Given the description of an element on the screen output the (x, y) to click on. 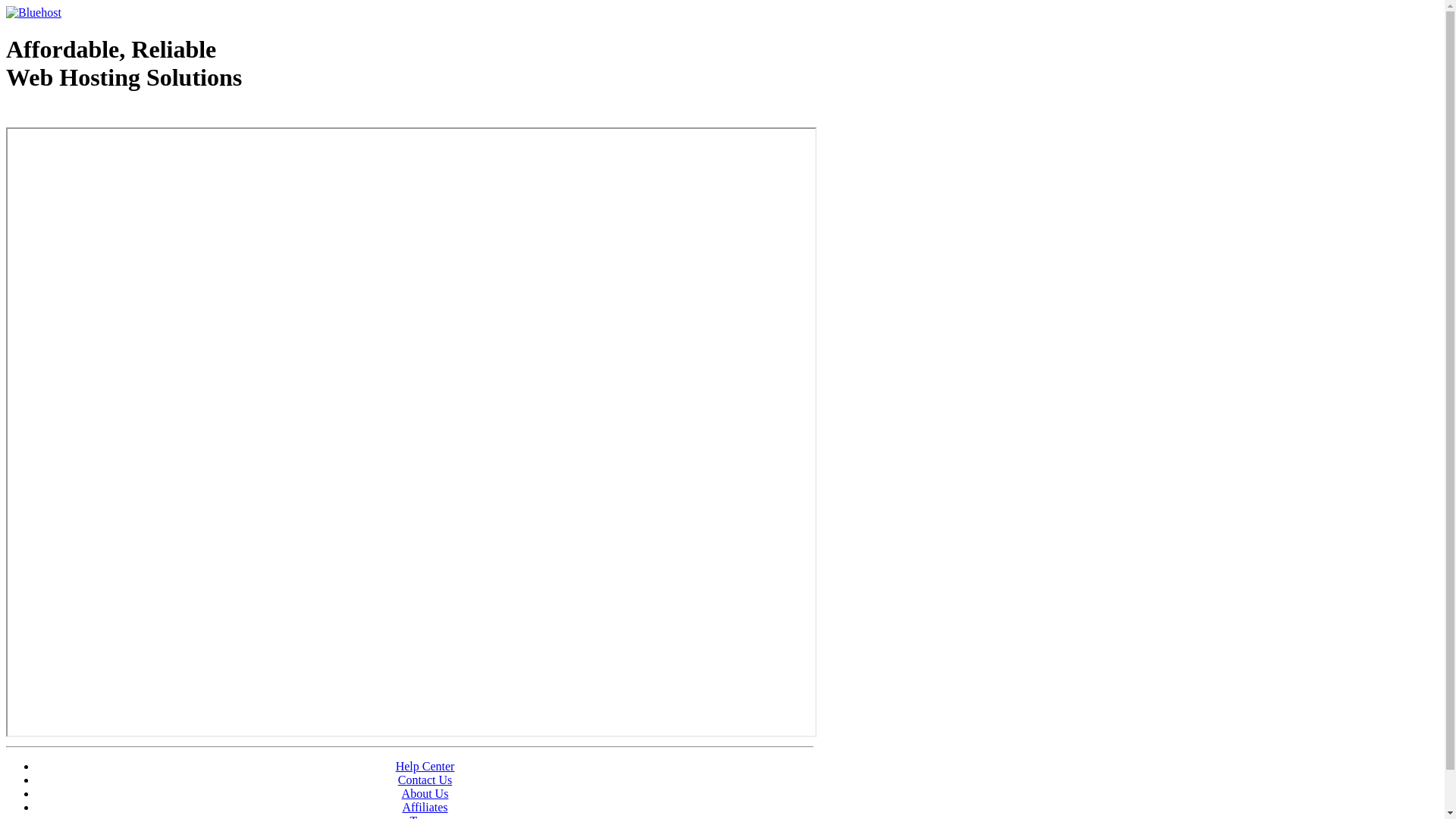
About Us Element type: text (424, 793)
Affiliates Element type: text (424, 806)
Help Center Element type: text (425, 765)
Contact Us Element type: text (425, 779)
Web Hosting - courtesy of www.bluehost.com Element type: text (94, 115)
